Given the description of an element on the screen output the (x, y) to click on. 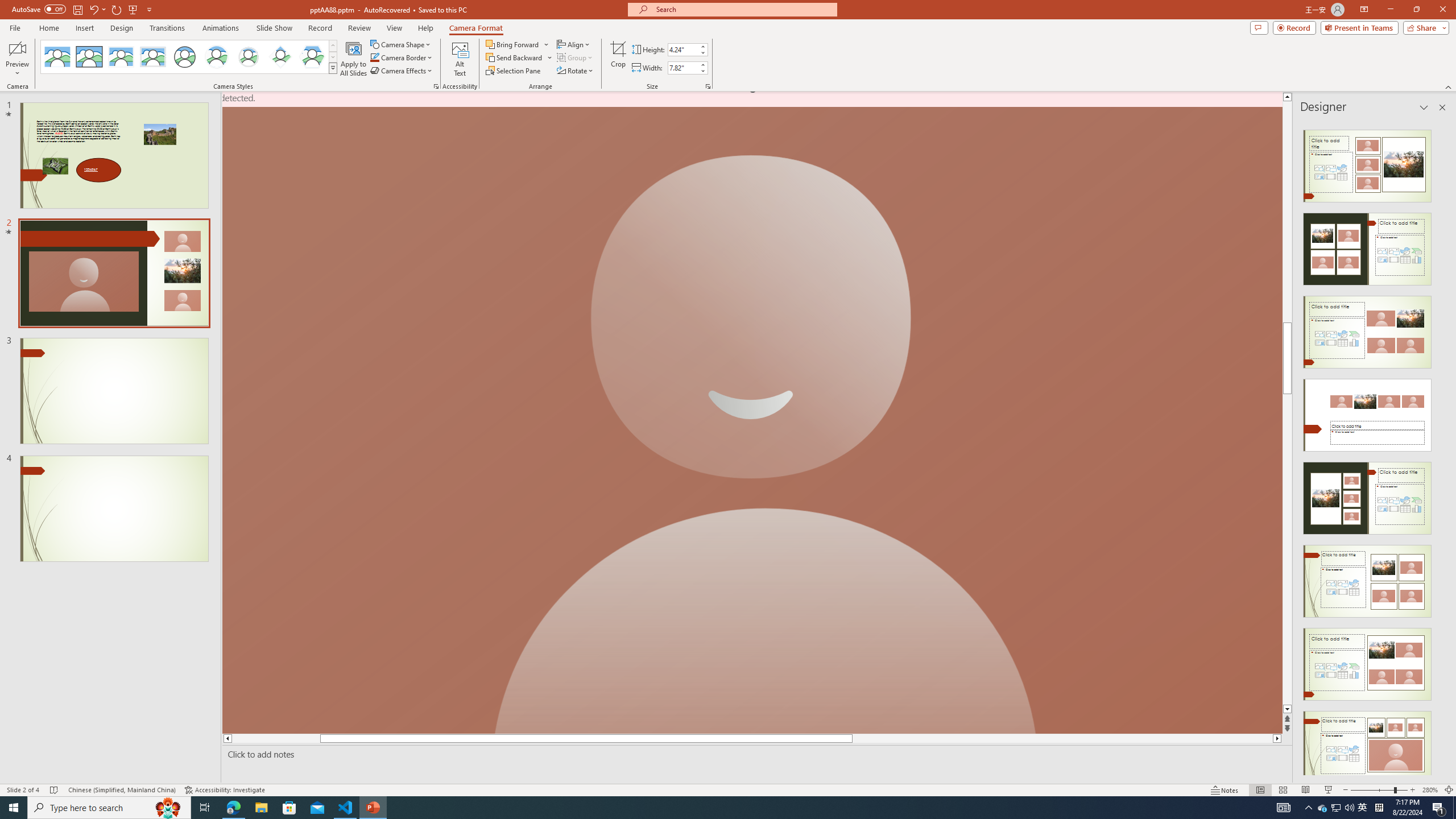
Align (574, 44)
Camera Styles (333, 67)
Class: NetUIScrollBar (1441, 447)
Center Shadow Circle (216, 56)
Center Shadow Diamond (280, 56)
Bring Forward (513, 44)
